Given the description of an element on the screen output the (x, y) to click on. 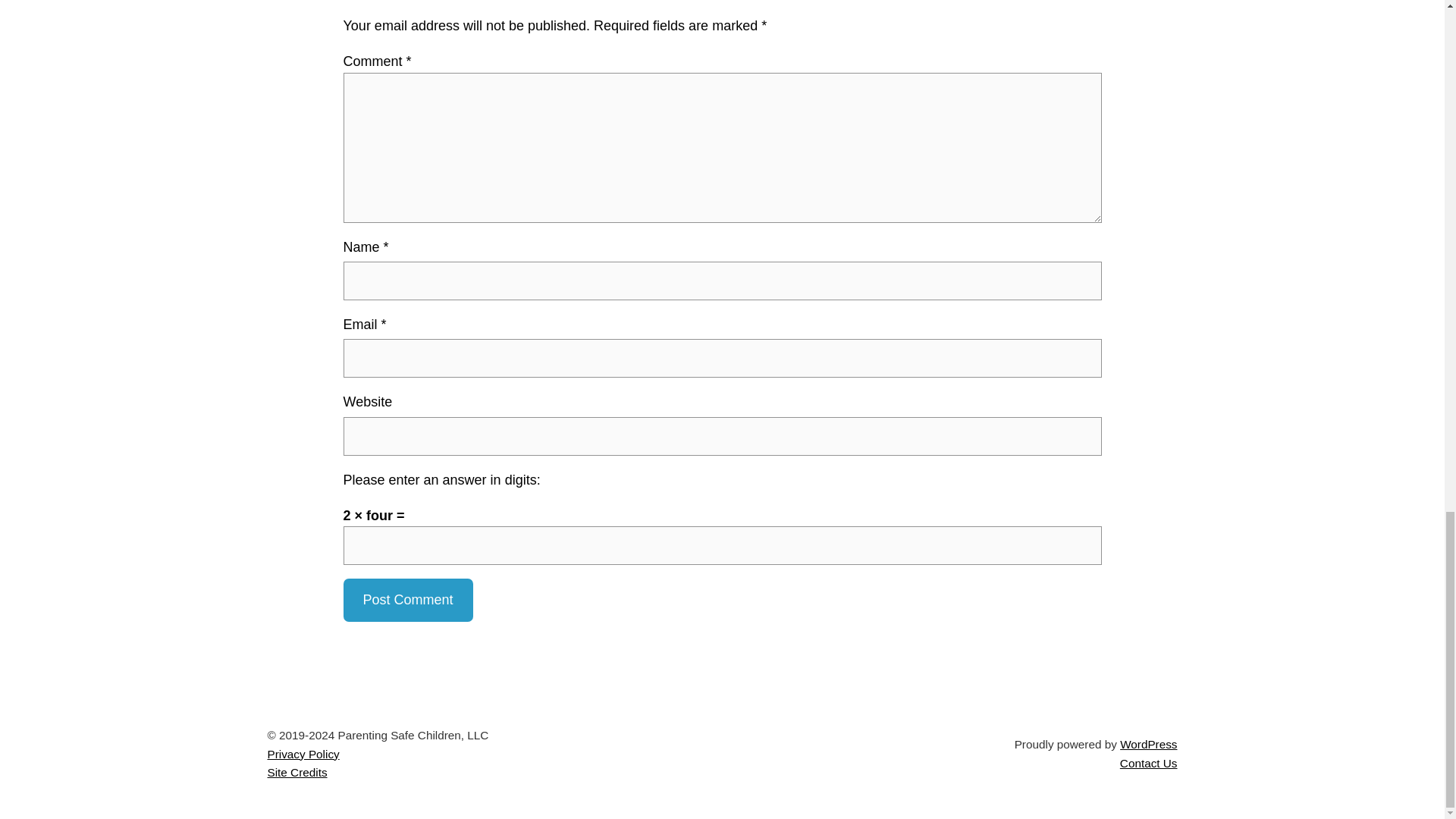
Privacy Policy (302, 753)
Post Comment (406, 599)
Site Credits (296, 771)
Post Comment (406, 599)
